Given the description of an element on the screen output the (x, y) to click on. 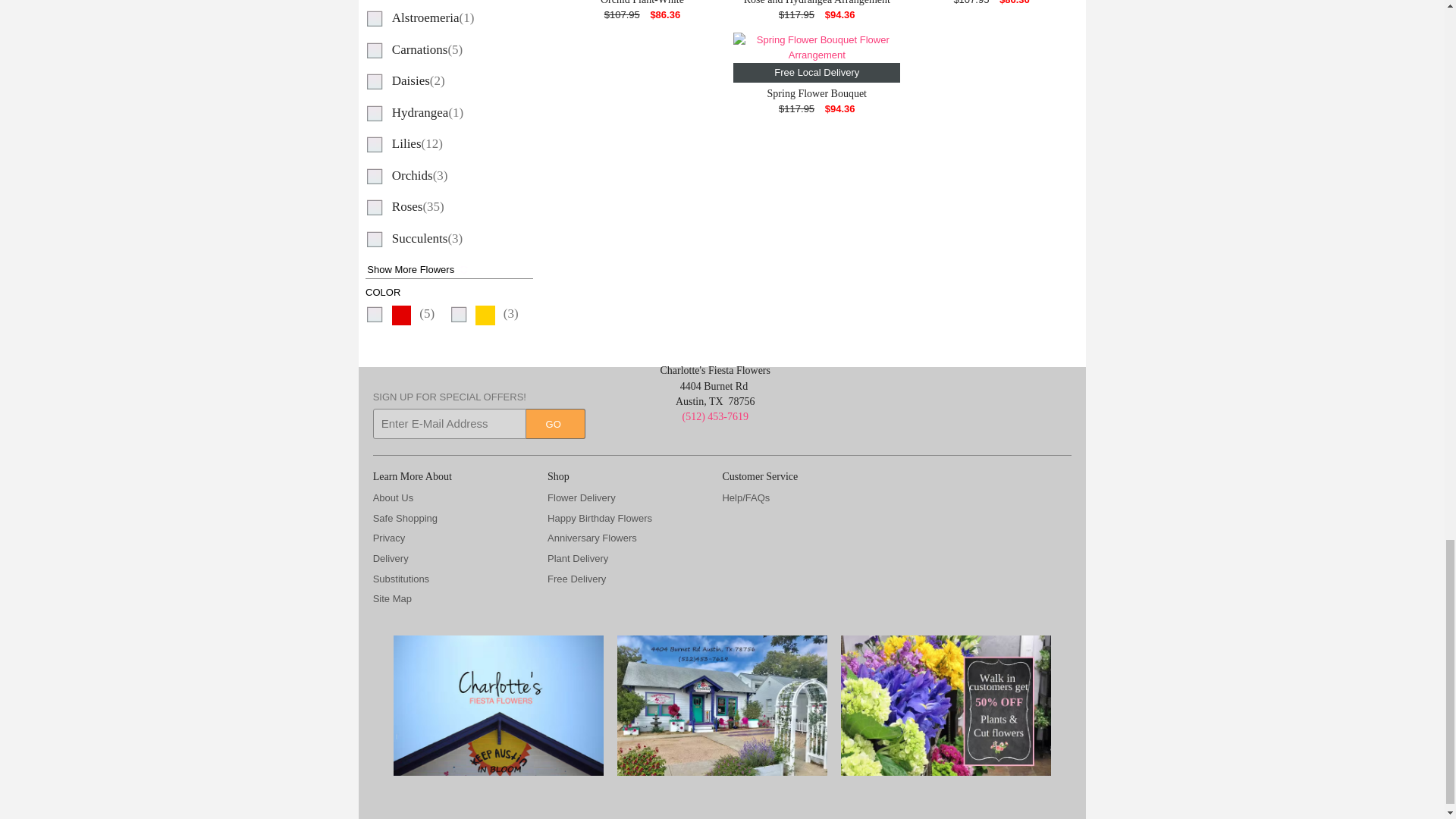
Email Sign up (448, 423)
go (555, 423)
Go (555, 423)
